Given the description of an element on the screen output the (x, y) to click on. 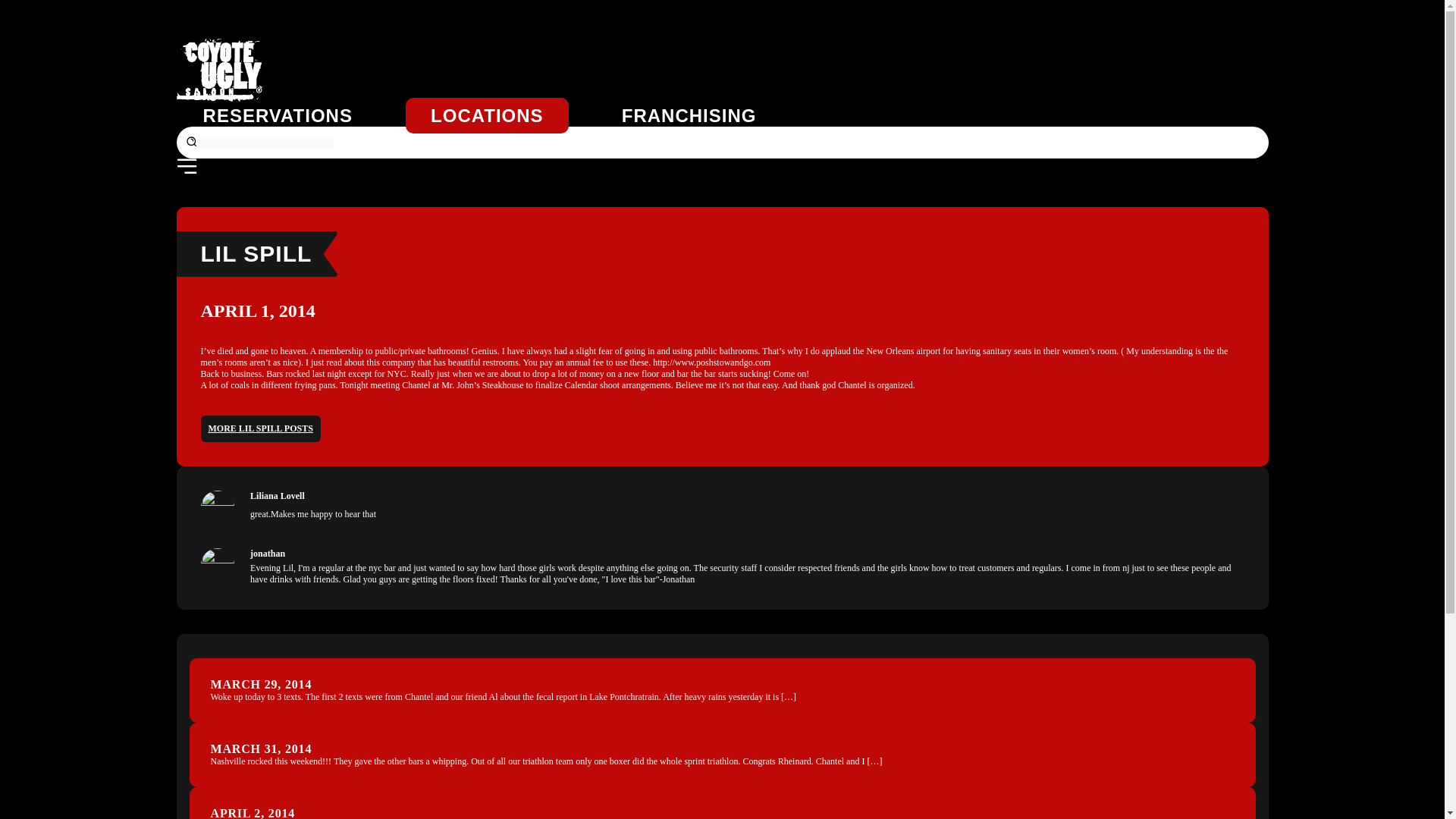
MORE LIL SPILL POSTS (260, 428)
LIL SPILL (255, 253)
RESERVATIONS (277, 115)
FRANCHISING (689, 115)
LOCATIONS (487, 115)
